Given the description of an element on the screen output the (x, y) to click on. 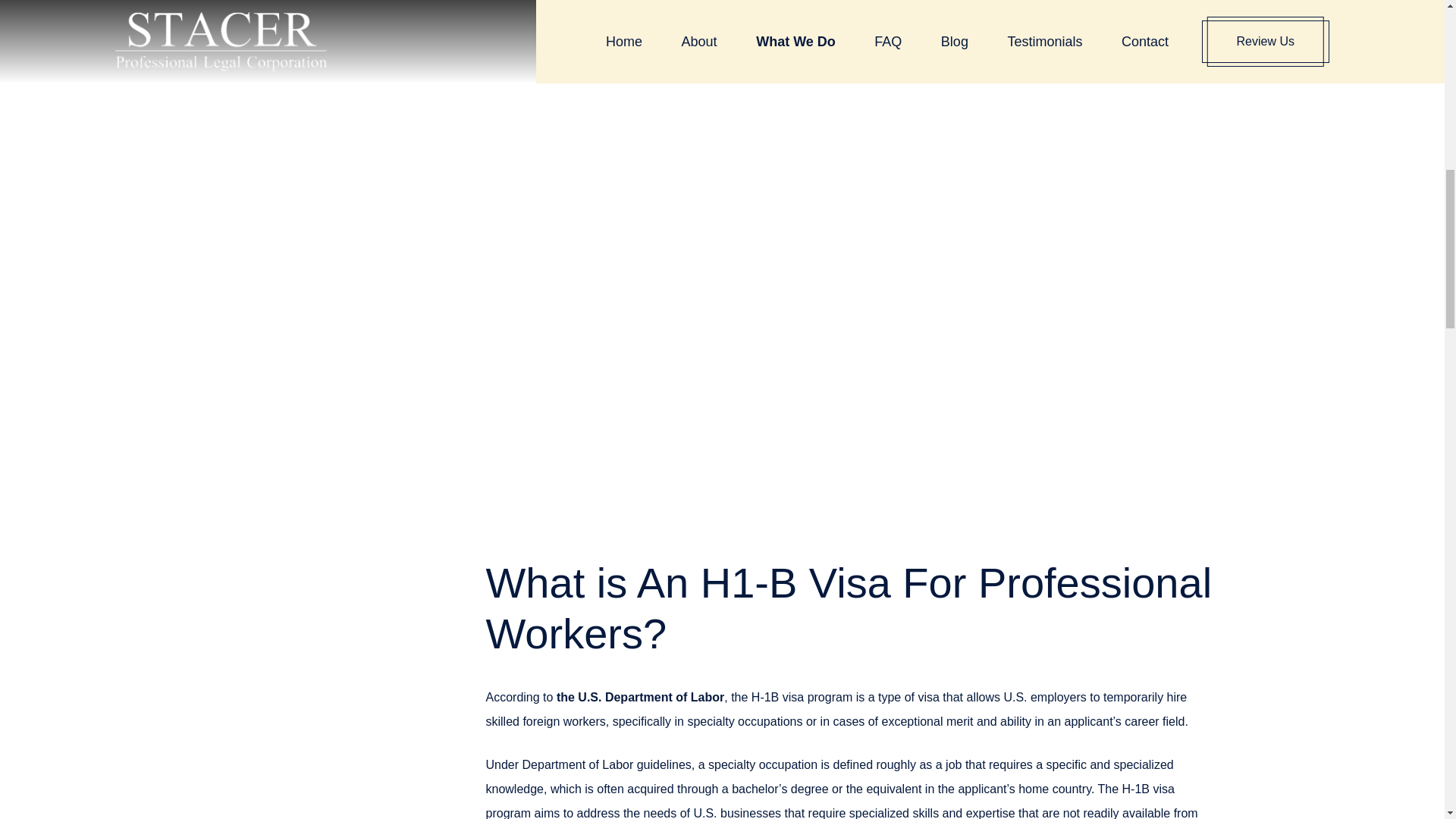
the U.S. Department of Labor (639, 697)
